Given the description of an element on the screen output the (x, y) to click on. 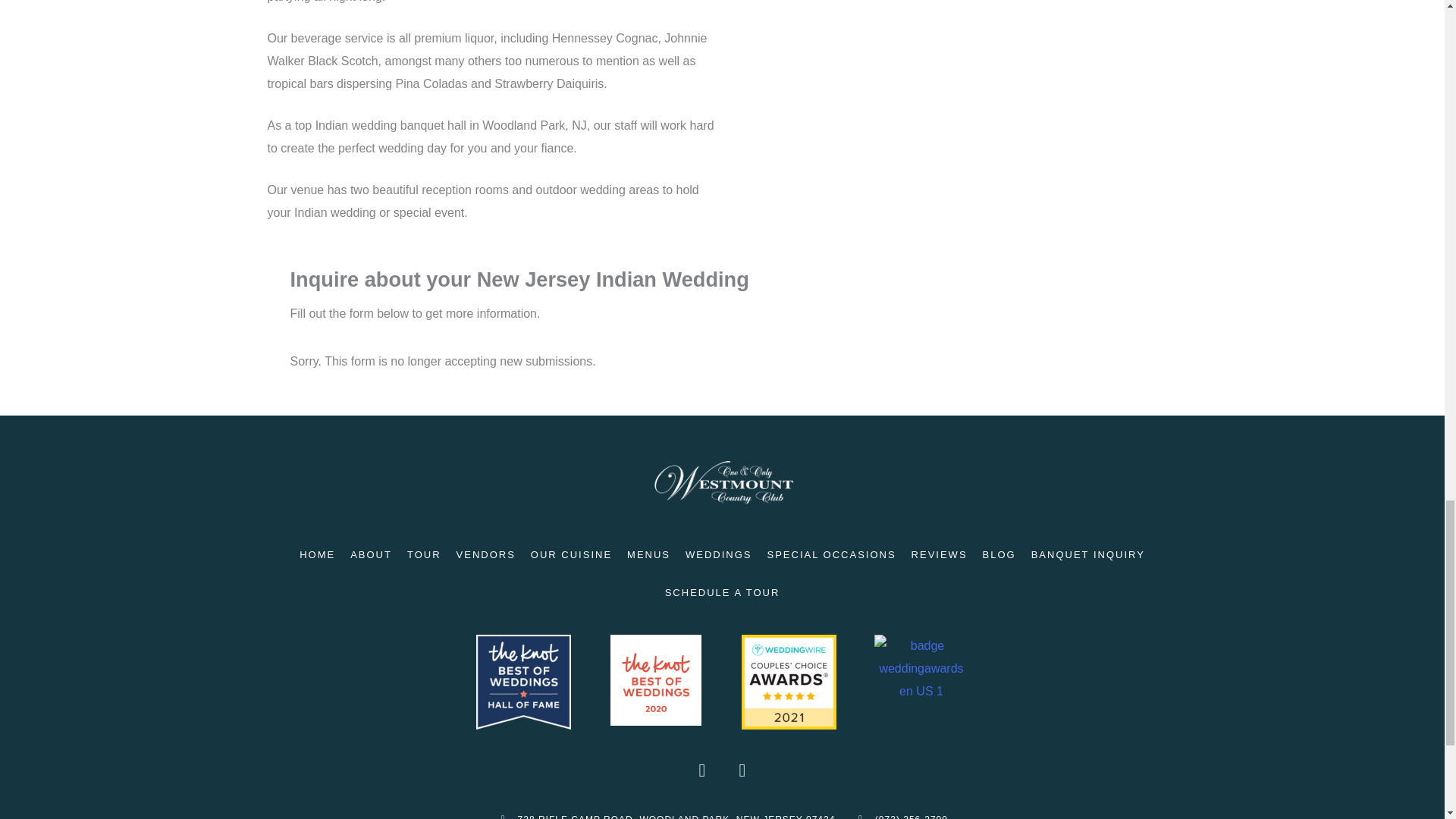
TOUR (423, 555)
ABOUT (370, 555)
HOME (317, 555)
